Given the description of an element on the screen output the (x, y) to click on. 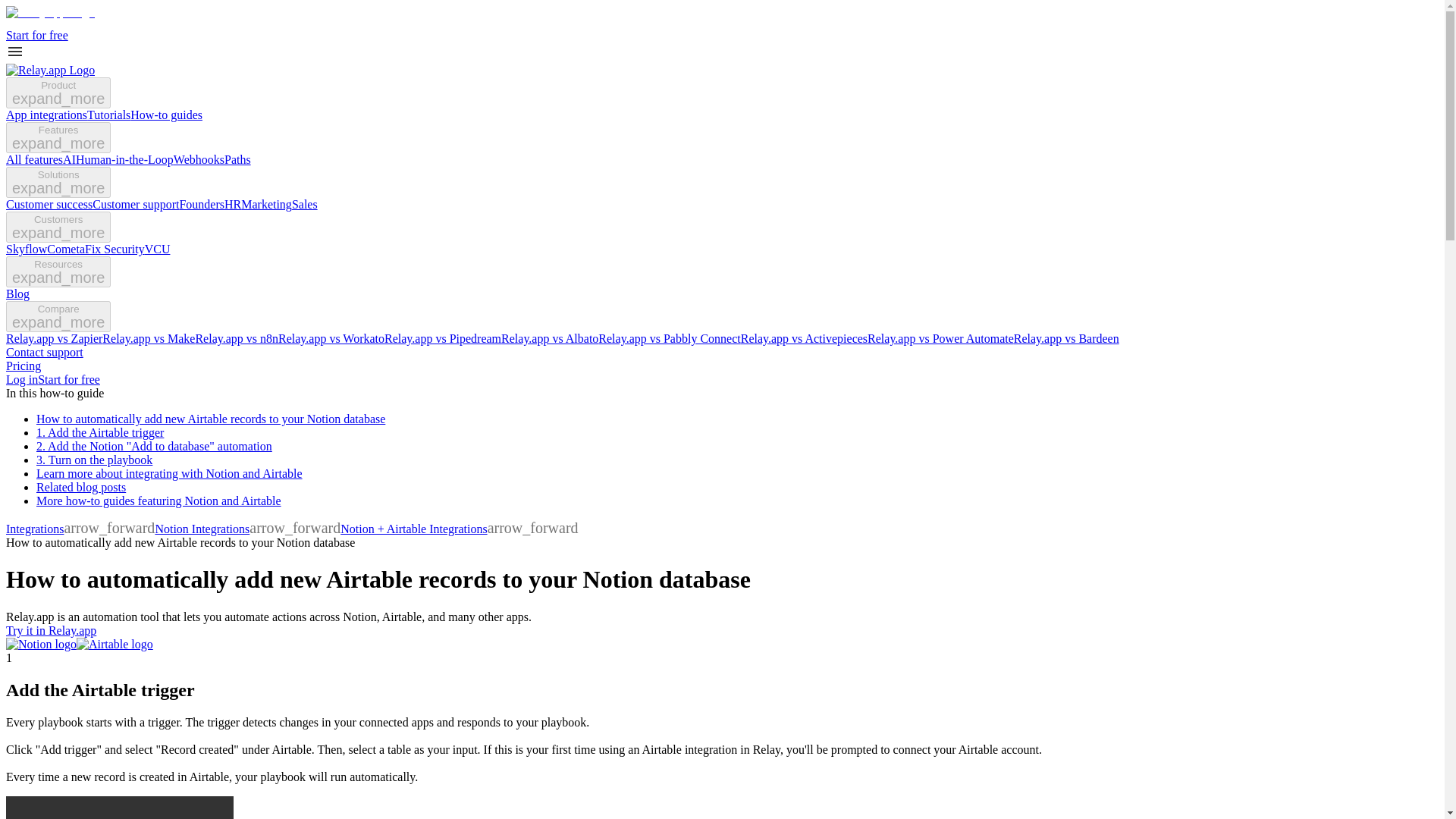
Tutorials (109, 114)
Marketing (266, 204)
Start for free (36, 34)
VCU (157, 248)
Relay.app vs Albato (549, 338)
Human-in-the-Loop (124, 159)
Sales (304, 204)
Relay.app vs Pabbly Connect (668, 338)
Relay.app vs Make (148, 338)
Customer support (136, 204)
How-to guides (166, 114)
Paths (237, 159)
Relay.app vs Pipedream (442, 338)
Relay.app vs Activepieces (804, 338)
App integrations (46, 114)
